Given the description of an element on the screen output the (x, y) to click on. 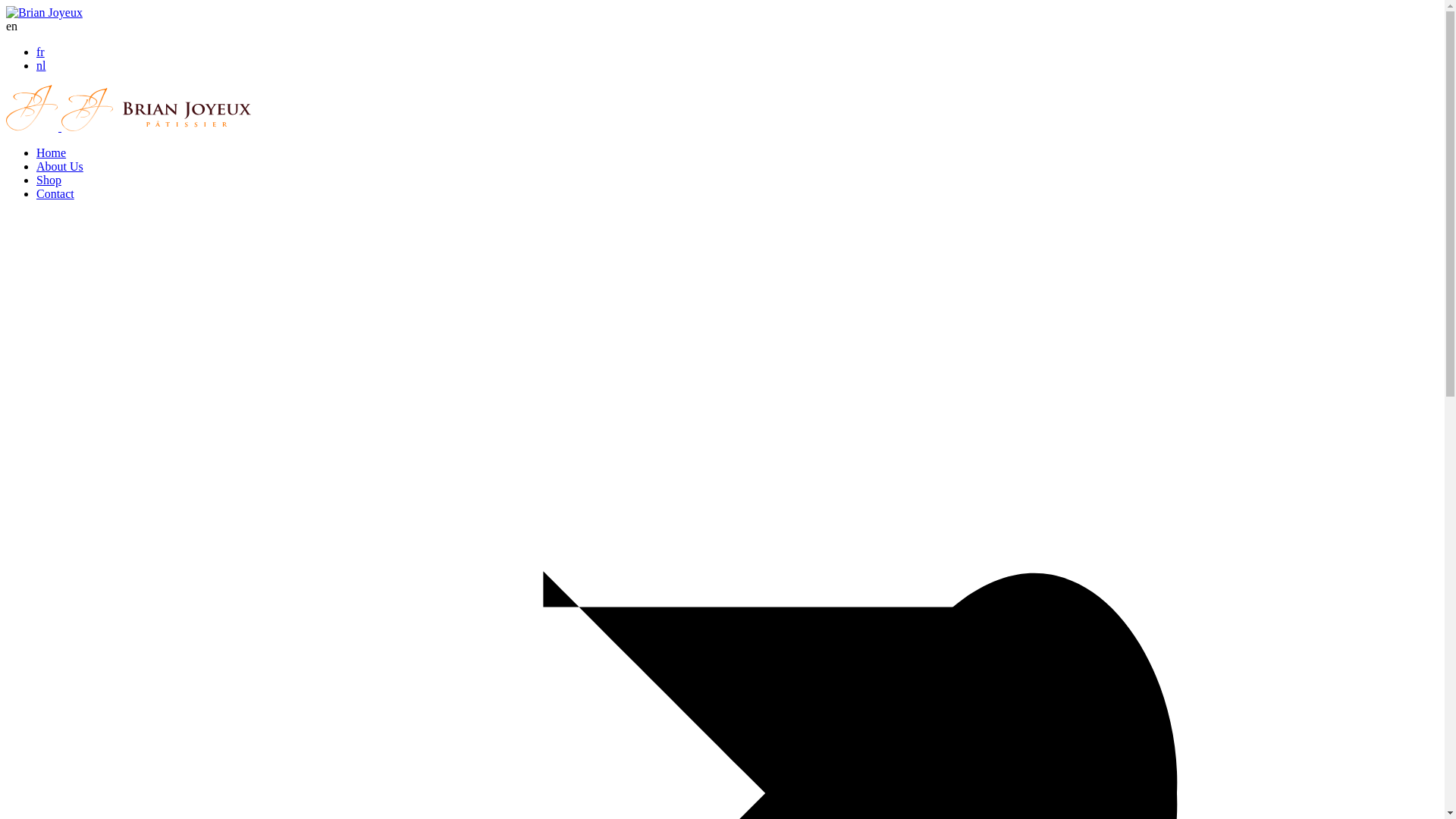
Shop Element type: text (48, 179)
About Us Element type: text (59, 166)
Contact Element type: text (55, 193)
Home Element type: text (50, 152)
nl Element type: text (40, 65)
fr Element type: text (40, 51)
